Given the description of an element on the screen output the (x, y) to click on. 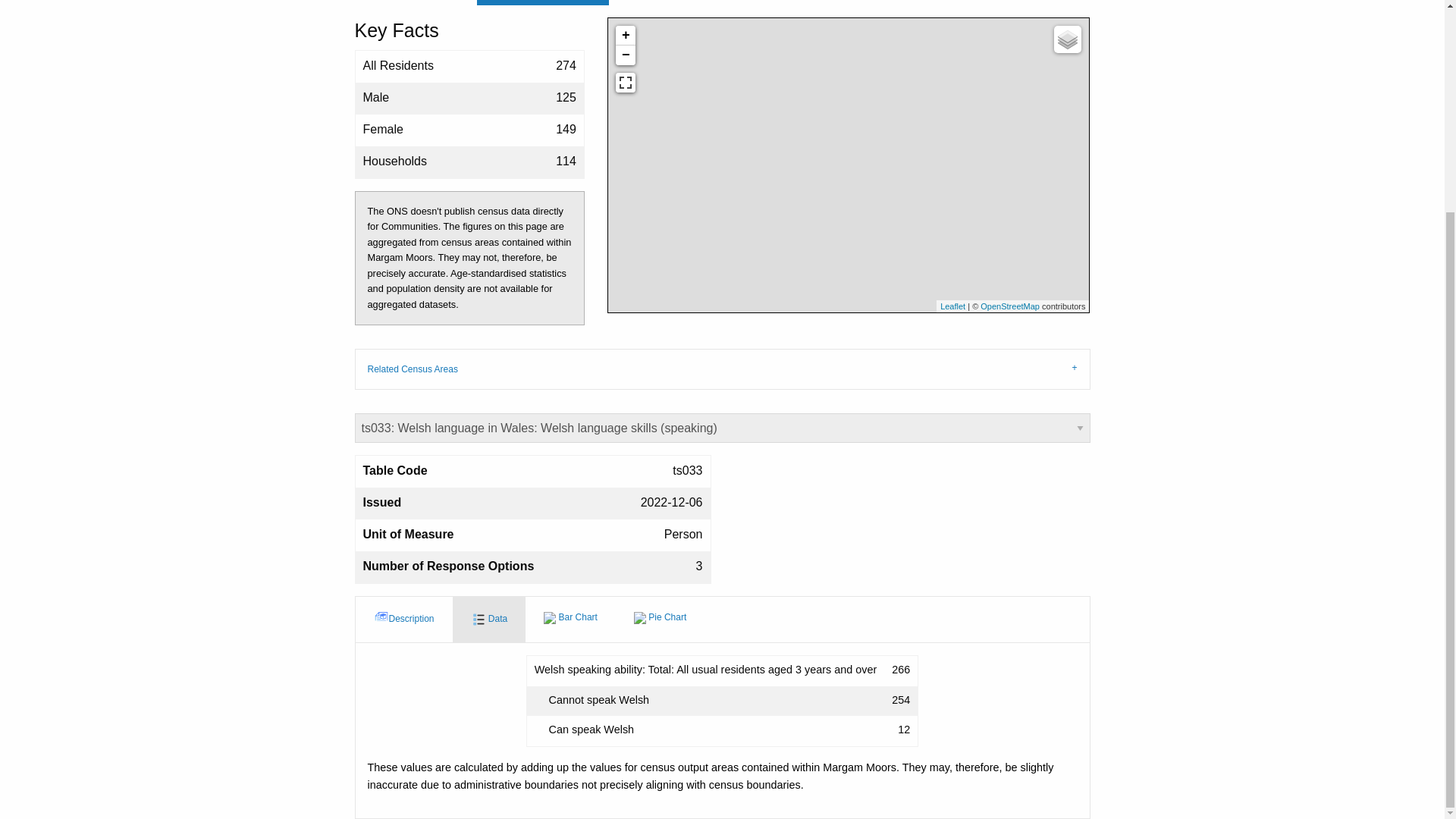
Related Census Areas (722, 368)
A JS library for interactive maps (952, 306)
Zoom in (624, 35)
Zoom out (624, 55)
Leaflet (952, 306)
OpenStreetMap (1009, 306)
Layers (1067, 39)
Add to comparison (542, 2)
View Fullscreen (624, 82)
